Given the description of an element on the screen output the (x, y) to click on. 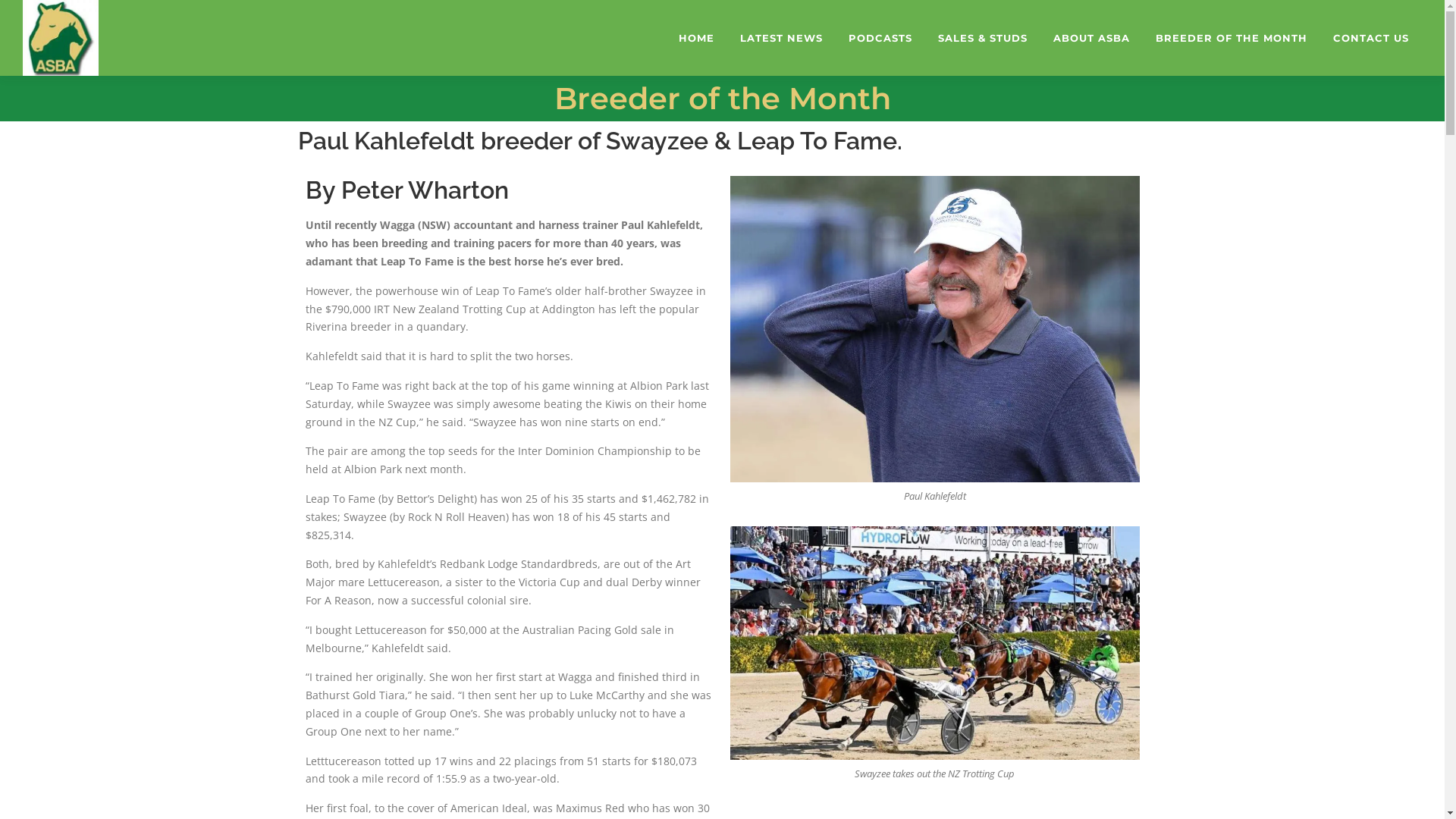
CONTACT US Element type: text (1370, 37)
HOME Element type: text (696, 37)
SALES & STUDS Element type: text (982, 37)
LATEST NEWS Element type: text (781, 37)
ABOUT ASBA Element type: text (1091, 37)
PODCASTS Element type: text (880, 37)
BREEDER OF THE MONTH Element type: text (1231, 37)
